Given the description of an element on the screen output the (x, y) to click on. 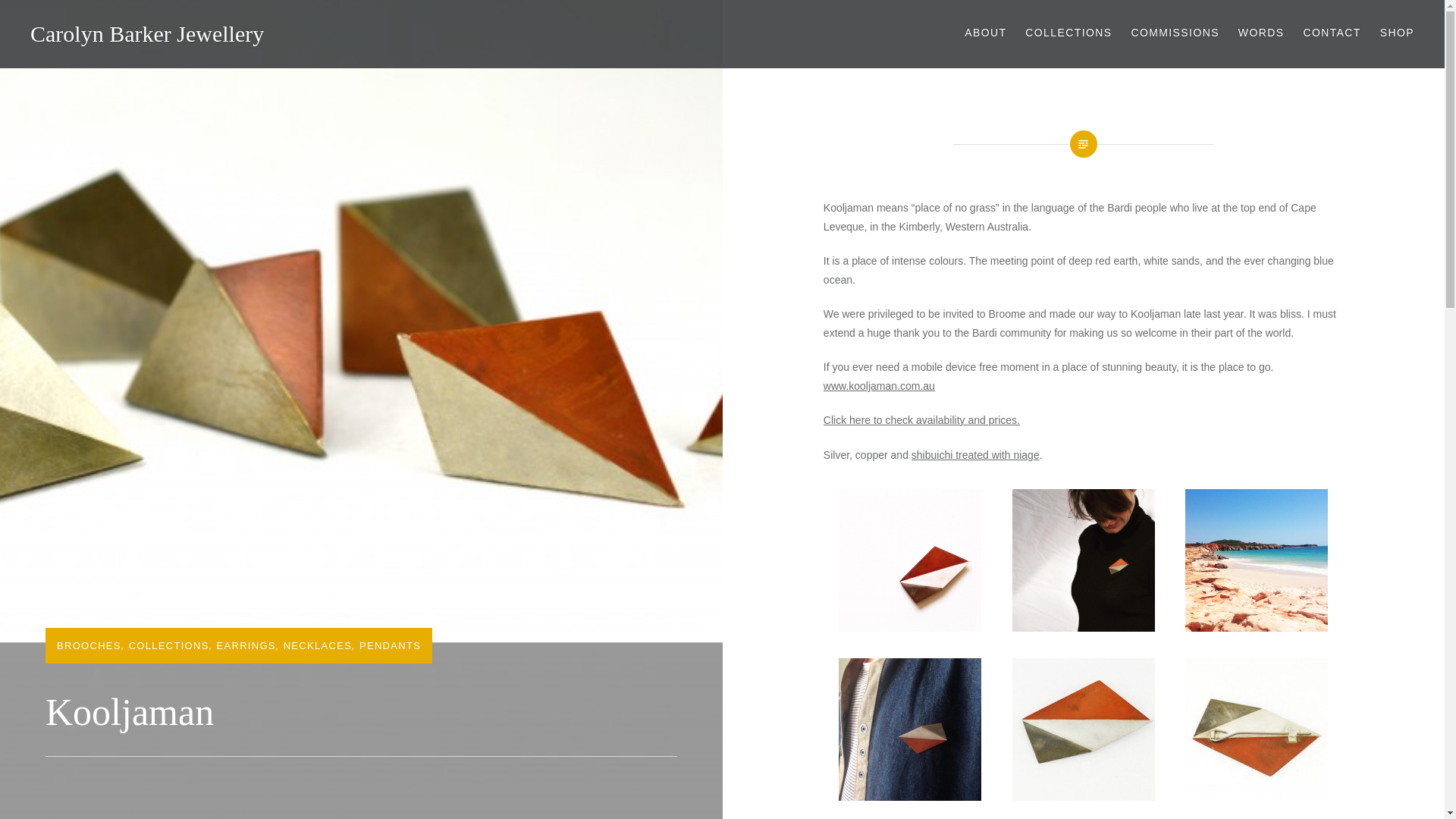
SHOP (1396, 32)
COLLECTIONS (169, 645)
PENDANTS (389, 645)
CONTACT (1331, 32)
shibuichi treated with niage (975, 454)
COLLECTIONS (1068, 32)
BROOCHES (88, 645)
NECKLACES (317, 645)
COMMISSIONS (1175, 32)
Carolyn Barker Jewellery (146, 33)
